Given the description of an element on the screen output the (x, y) to click on. 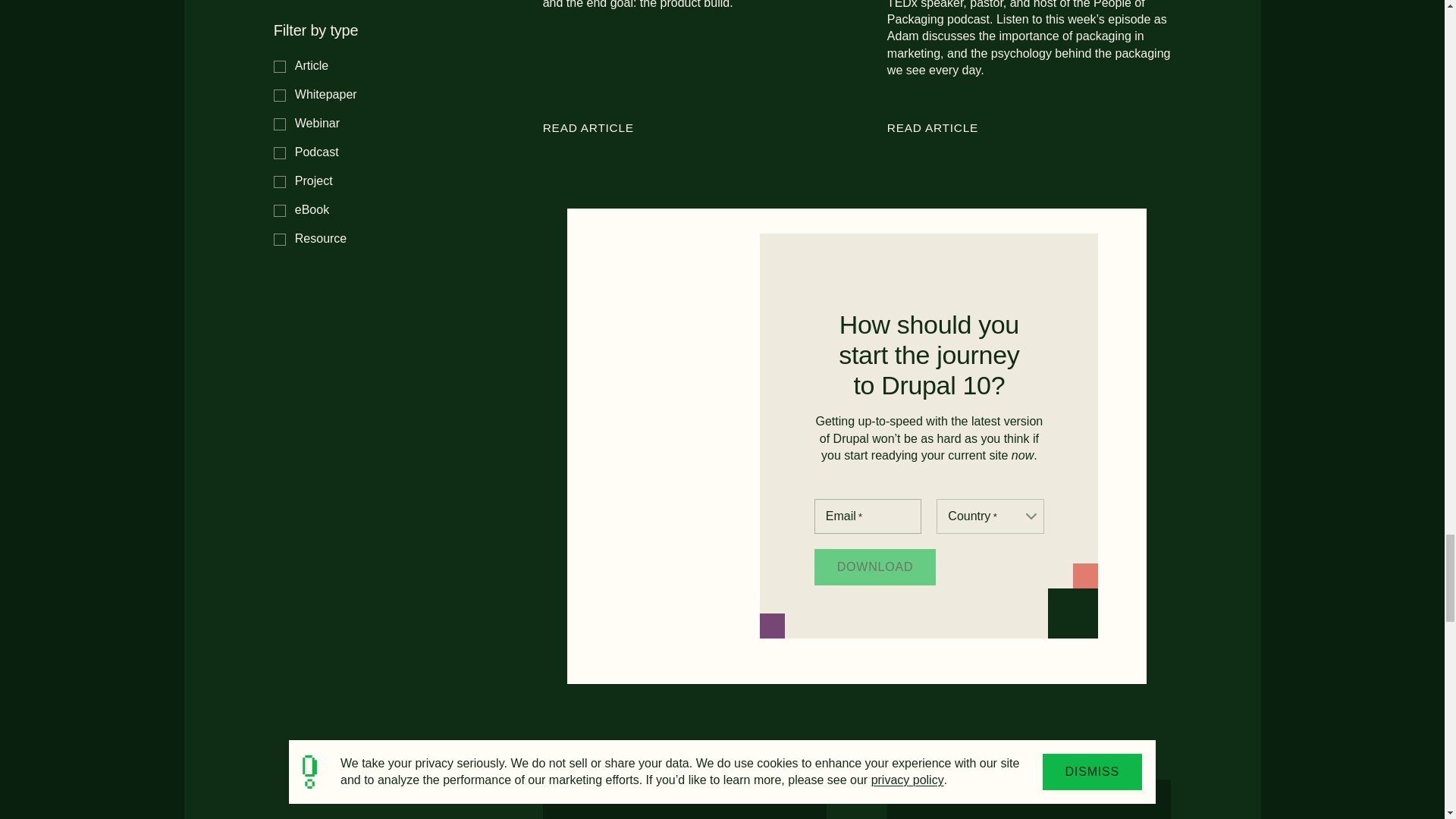
Download (874, 566)
